Given the description of an element on the screen output the (x, y) to click on. 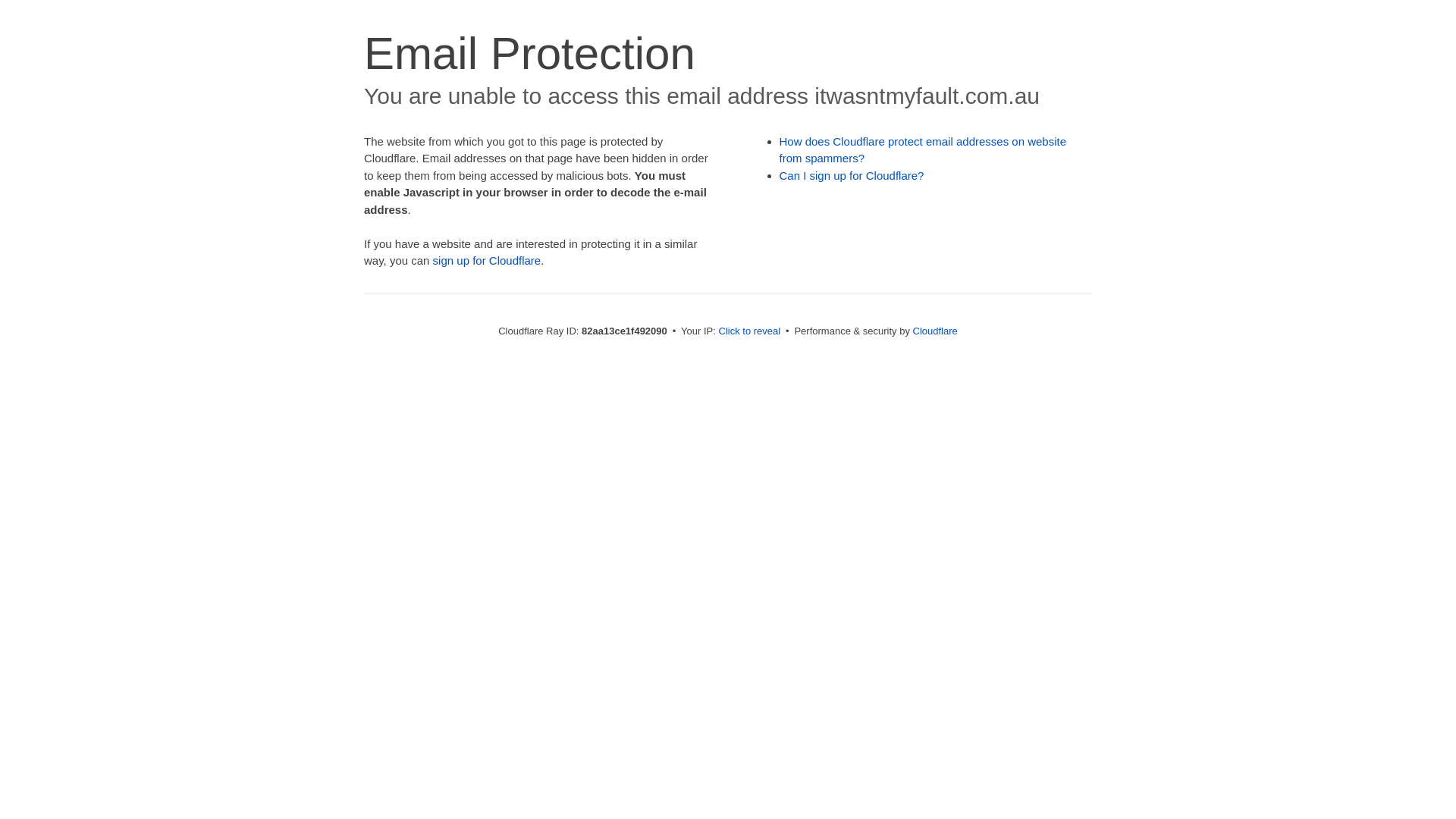
Can I sign up for Cloudflare? Element type: text (851, 175)
sign up for Cloudflare Element type: text (487, 260)
Cloudflare Element type: text (935, 330)
Click to reveal Element type: text (749, 330)
